Given the description of an element on the screen output the (x, y) to click on. 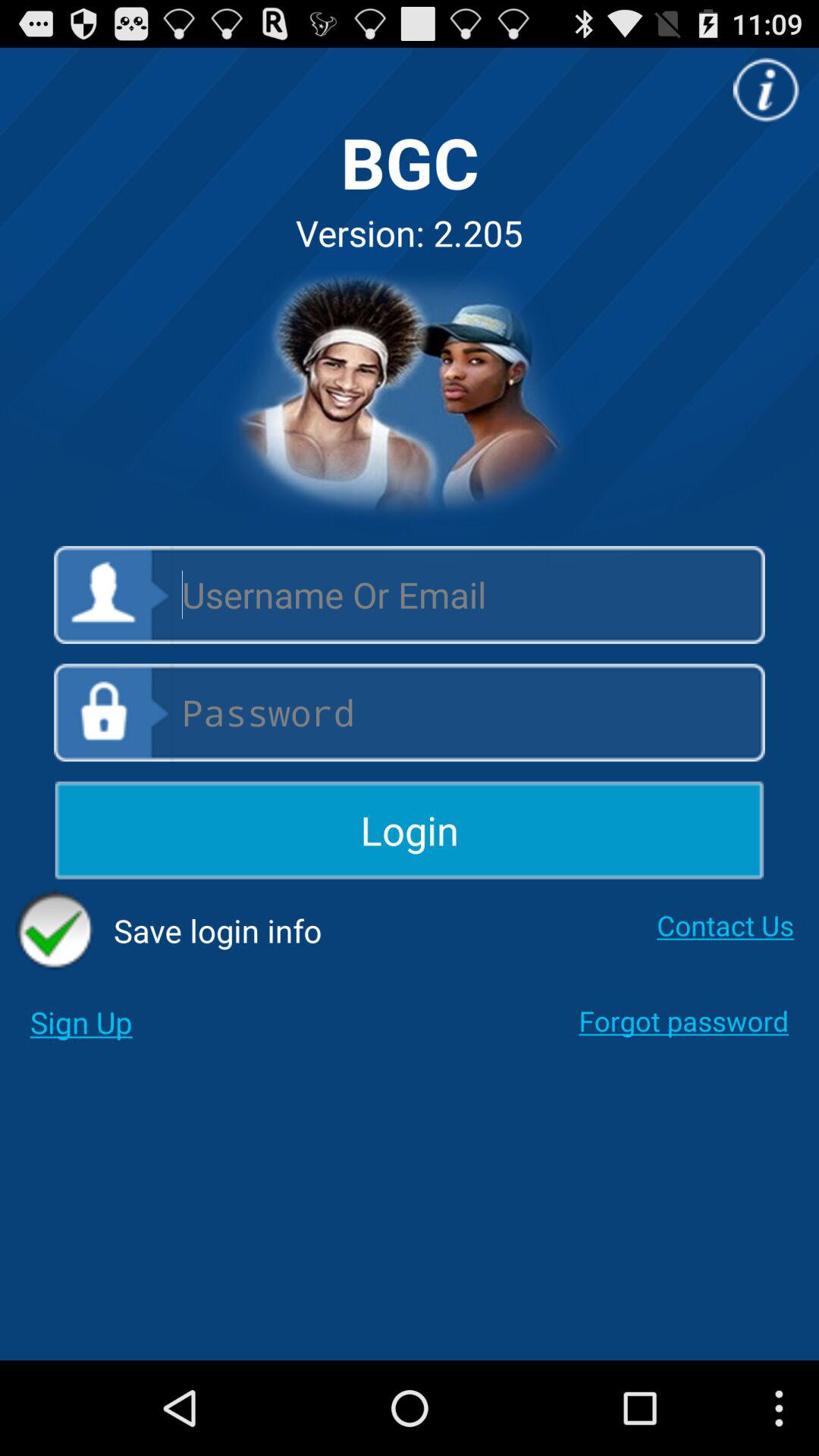
jump until sign up app (81, 1022)
